Given the description of an element on the screen output the (x, y) to click on. 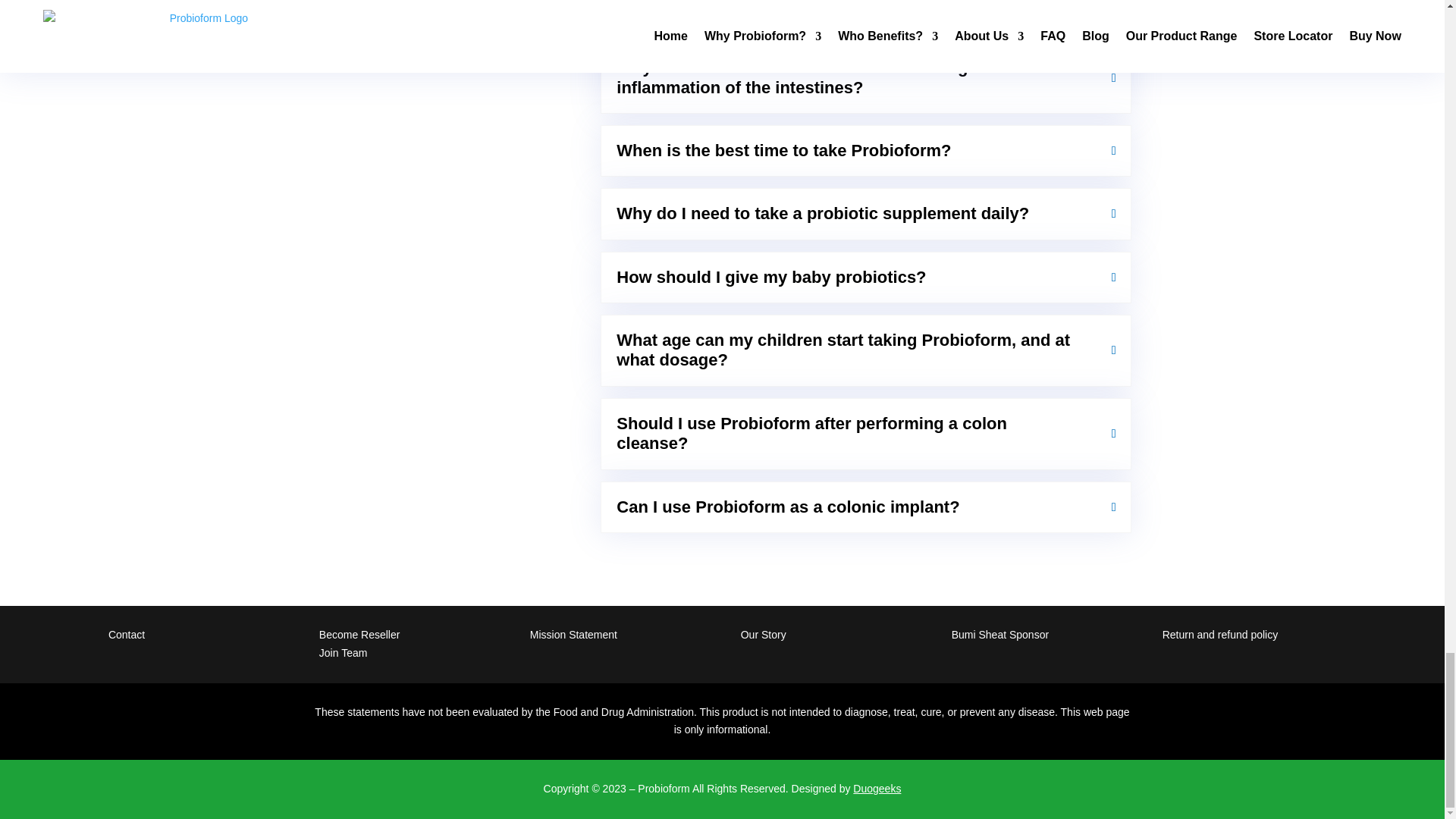
Contact (125, 634)
Mission Statement (573, 634)
Duogeeks (877, 788)
Become Reseller (359, 634)
Return and refund policy (1219, 634)
Our Story (763, 634)
Join Team (343, 653)
Bumi Sheat Sponsor (1000, 634)
